Given the description of an element on the screen output the (x, y) to click on. 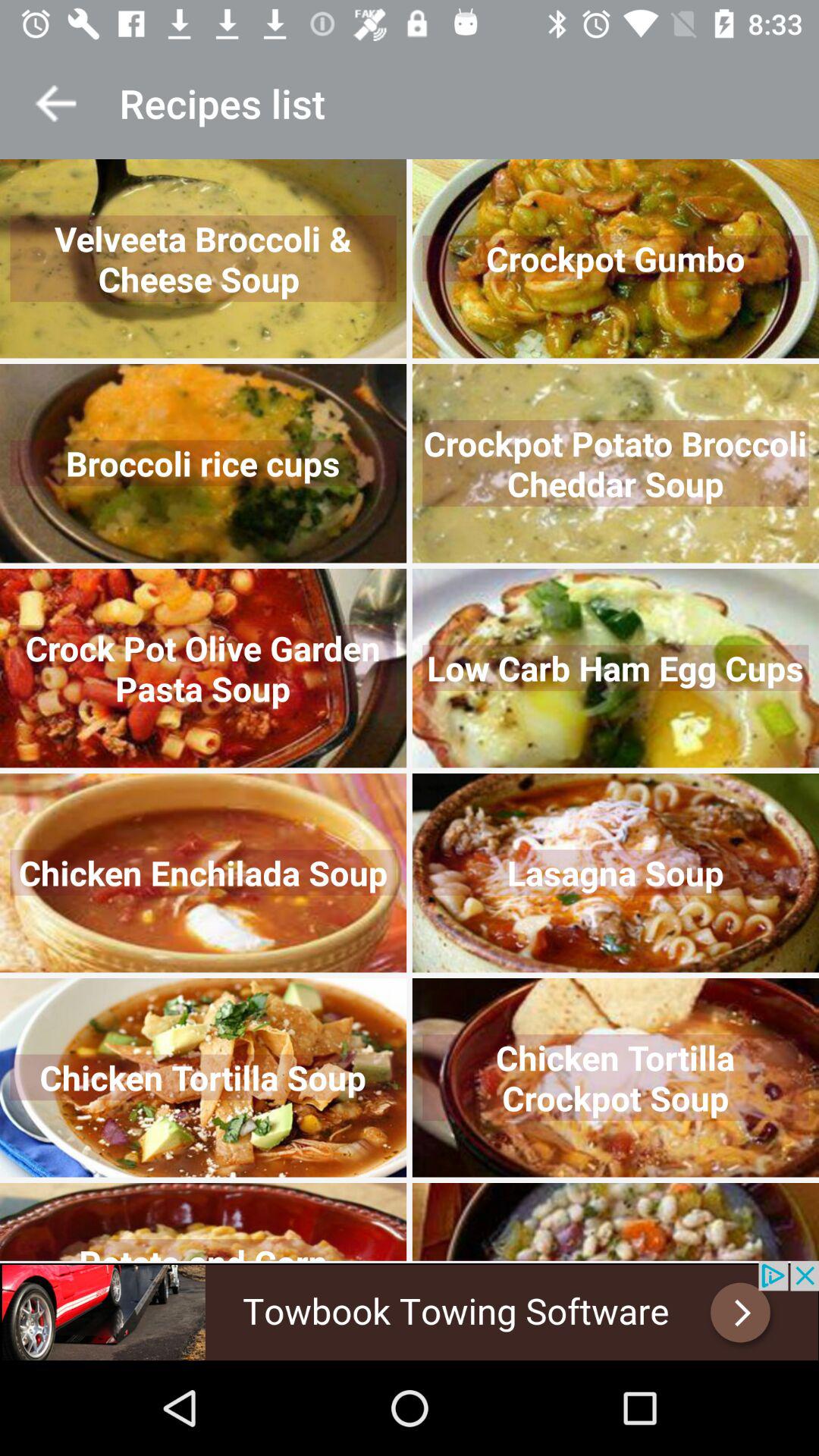
advertisements image (409, 1310)
